Given the description of an element on the screen output the (x, y) to click on. 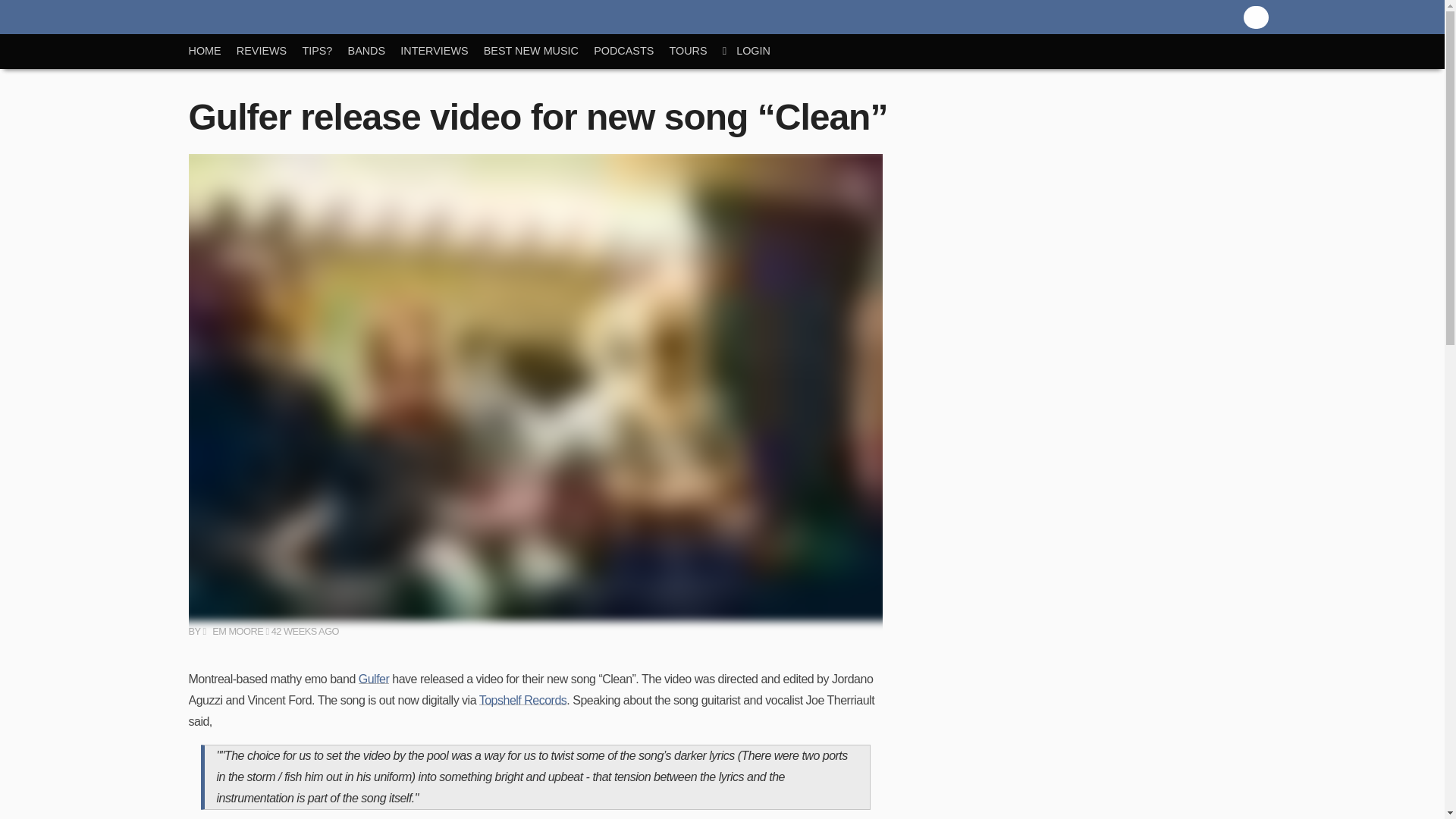
Your Account (754, 50)
PODCASTS (631, 50)
INTERVIEWS (441, 50)
Return to Home Page (211, 50)
New Interviews (441, 50)
BEST NEW MUSIC (538, 50)
Best New Music (538, 50)
TIPS? (324, 50)
TOURS (695, 50)
Check out some new music reviews (268, 50)
